Given the description of an element on the screen output the (x, y) to click on. 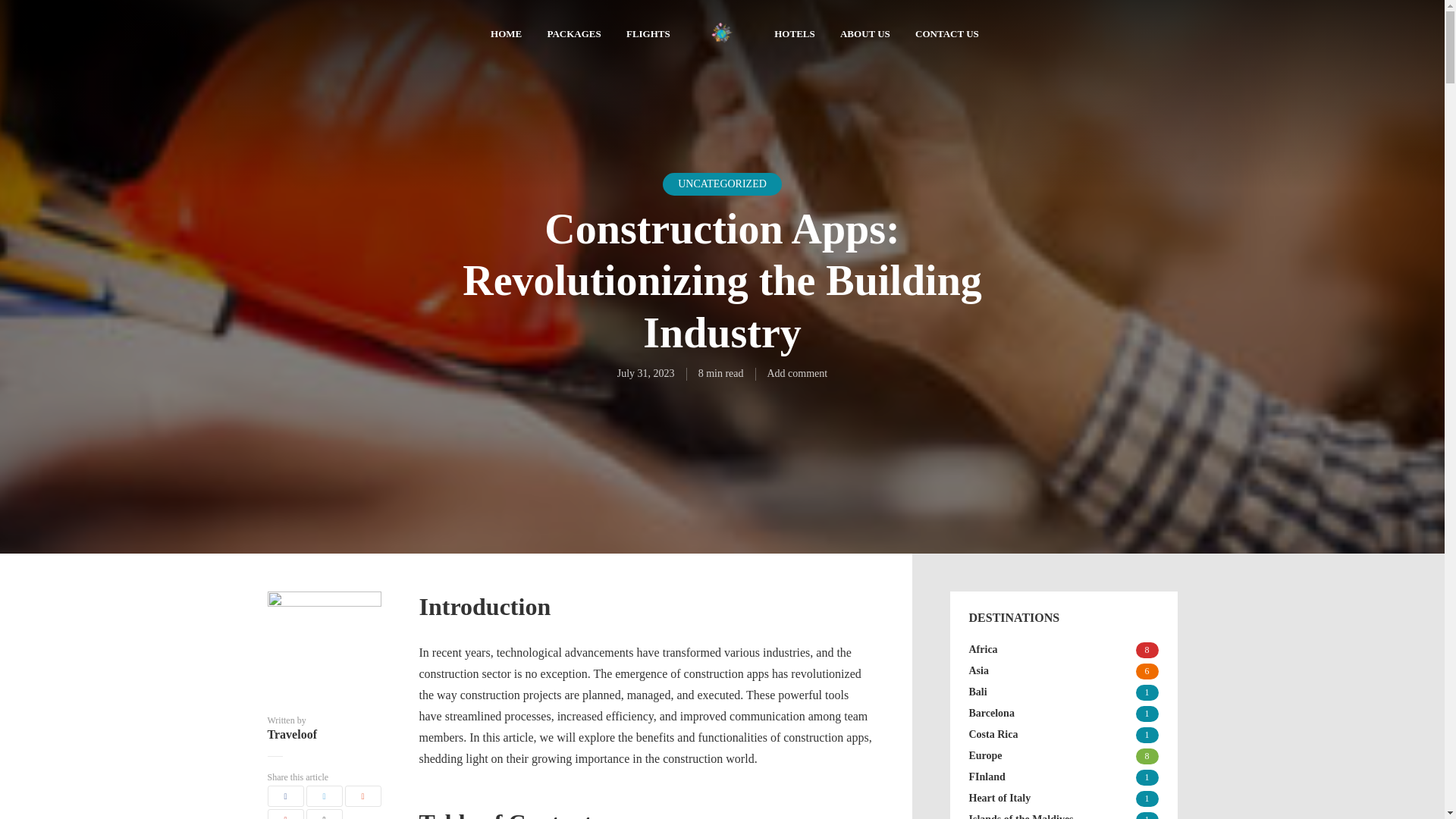
Add comment (797, 373)
Traveloof (323, 734)
CONTACT US (946, 34)
HOTELS (793, 34)
PACKAGES (573, 34)
Add comment (797, 373)
ABOUT US (864, 34)
FLIGHTS (647, 34)
UNCATEGORIZED (721, 183)
